Given the description of an element on the screen output the (x, y) to click on. 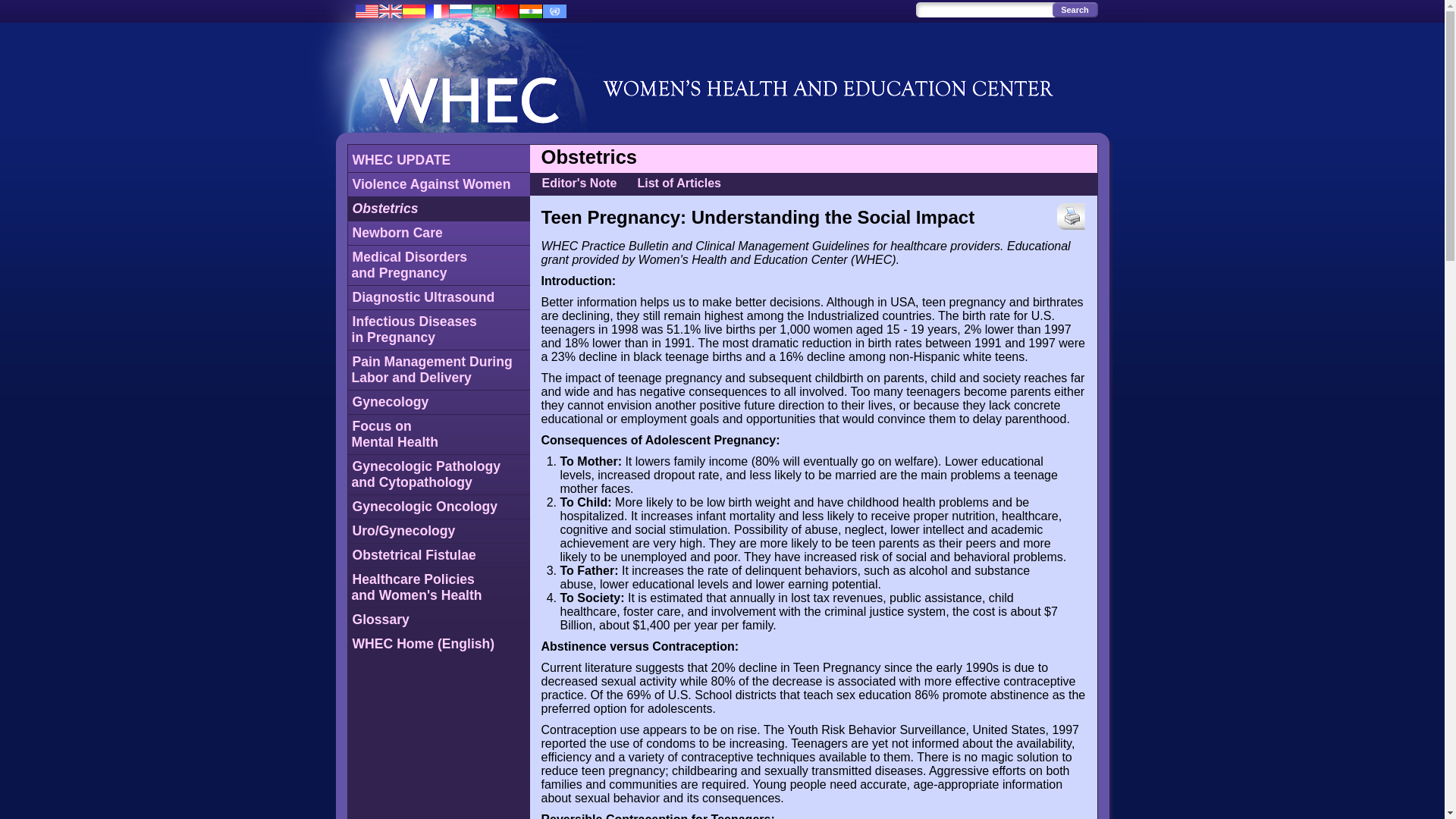
Newborn Care (398, 232)
Obstetrical Fistulae (395, 433)
Violence Against Women (414, 555)
Diagnostic Ultrasound (432, 184)
Obstetrics (424, 297)
Search (385, 208)
WHEC UPDATE (1074, 9)
Search (432, 368)
Gynecologic Oncology (414, 328)
Editor's Note (401, 159)
